Given the description of an element on the screen output the (x, y) to click on. 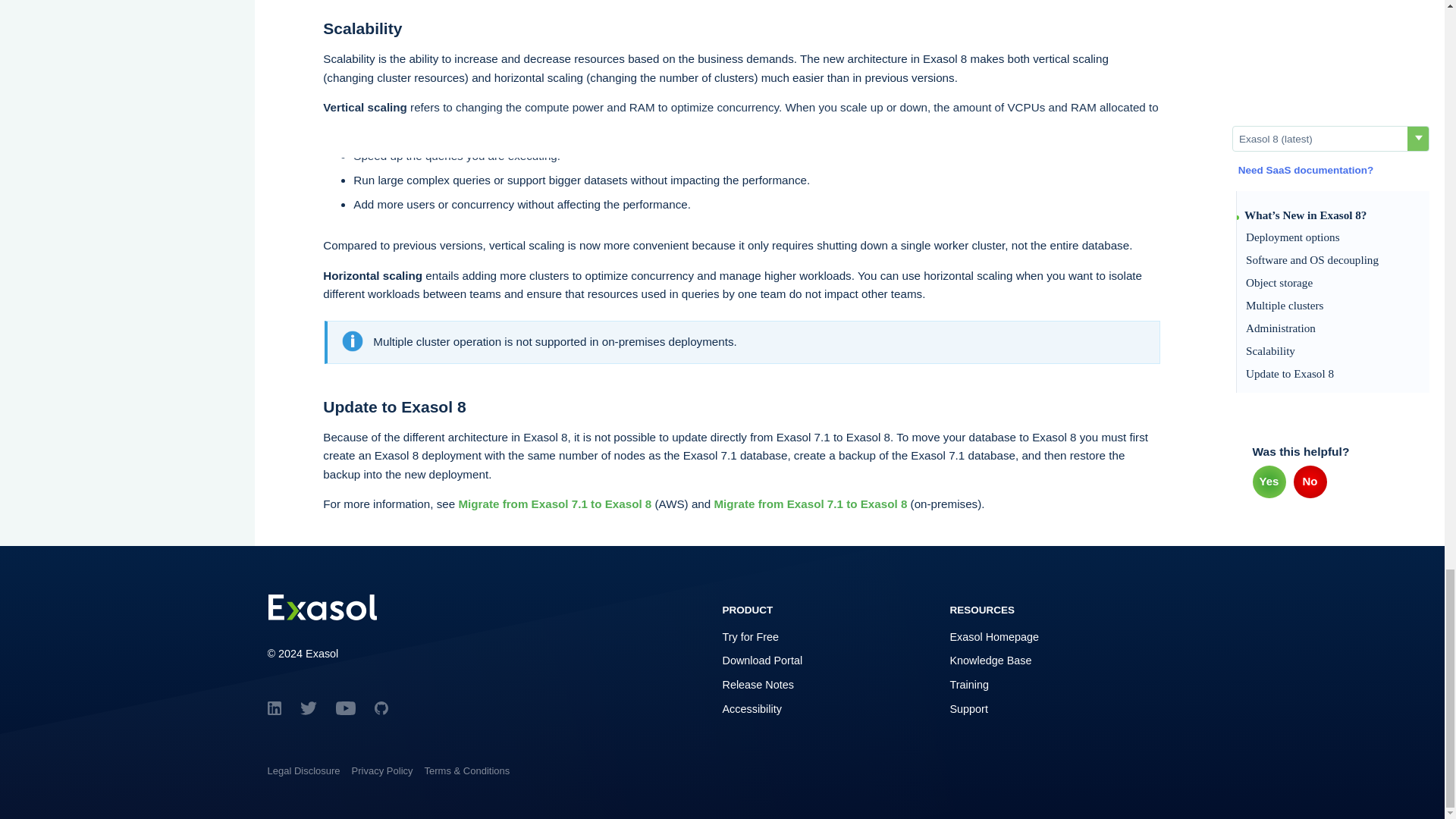
Migrate from Exasol 7.1 to Exasol 8 (554, 503)
Migrate from Exasol 7.1 to Exasol 8 (810, 503)
